Given the description of an element on the screen output the (x, y) to click on. 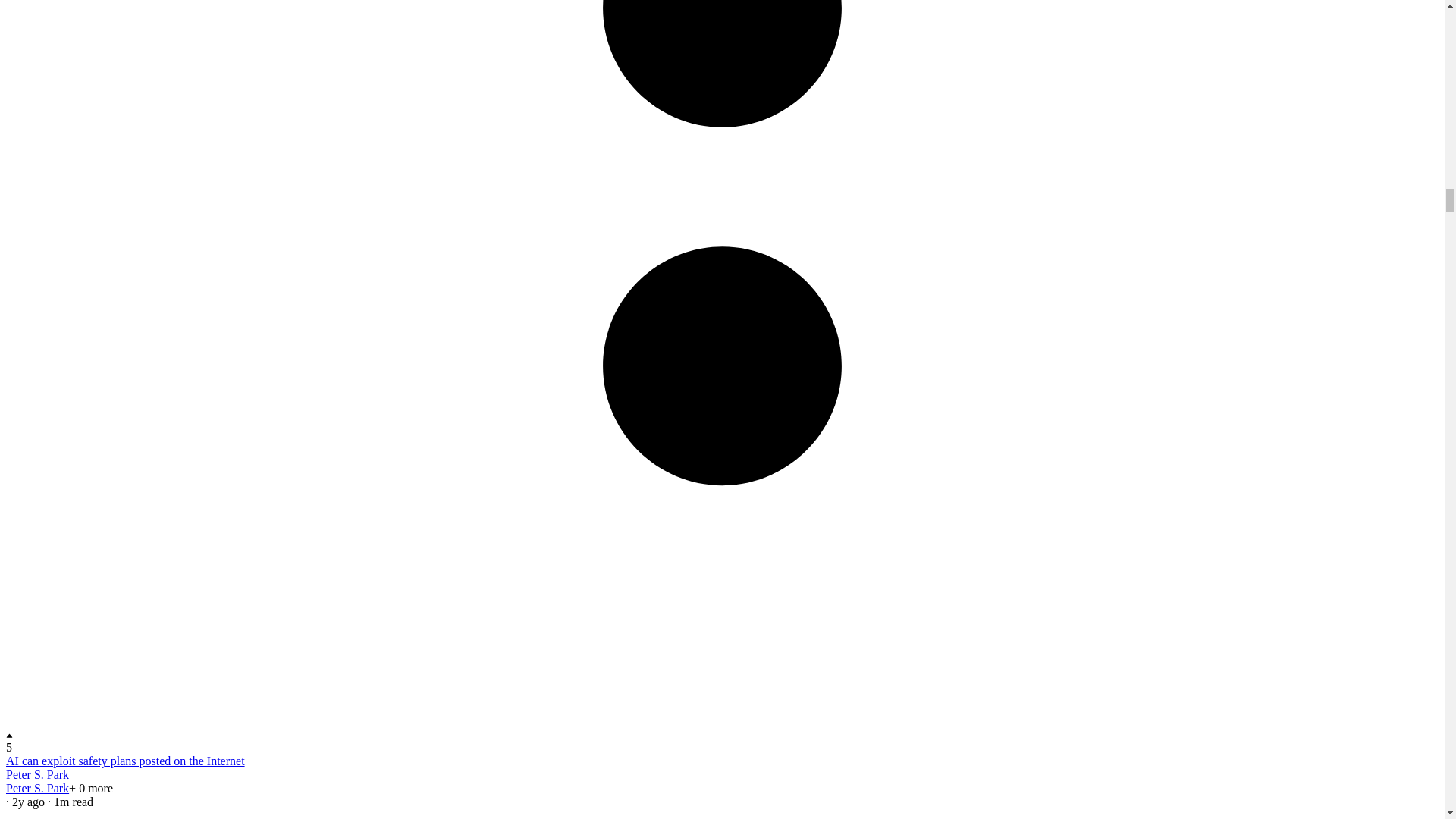
Peter S. Park (36, 774)
AI can exploit safety plans posted on the Internet (124, 760)
Peter S. Park (36, 788)
